Given the description of an element on the screen output the (x, y) to click on. 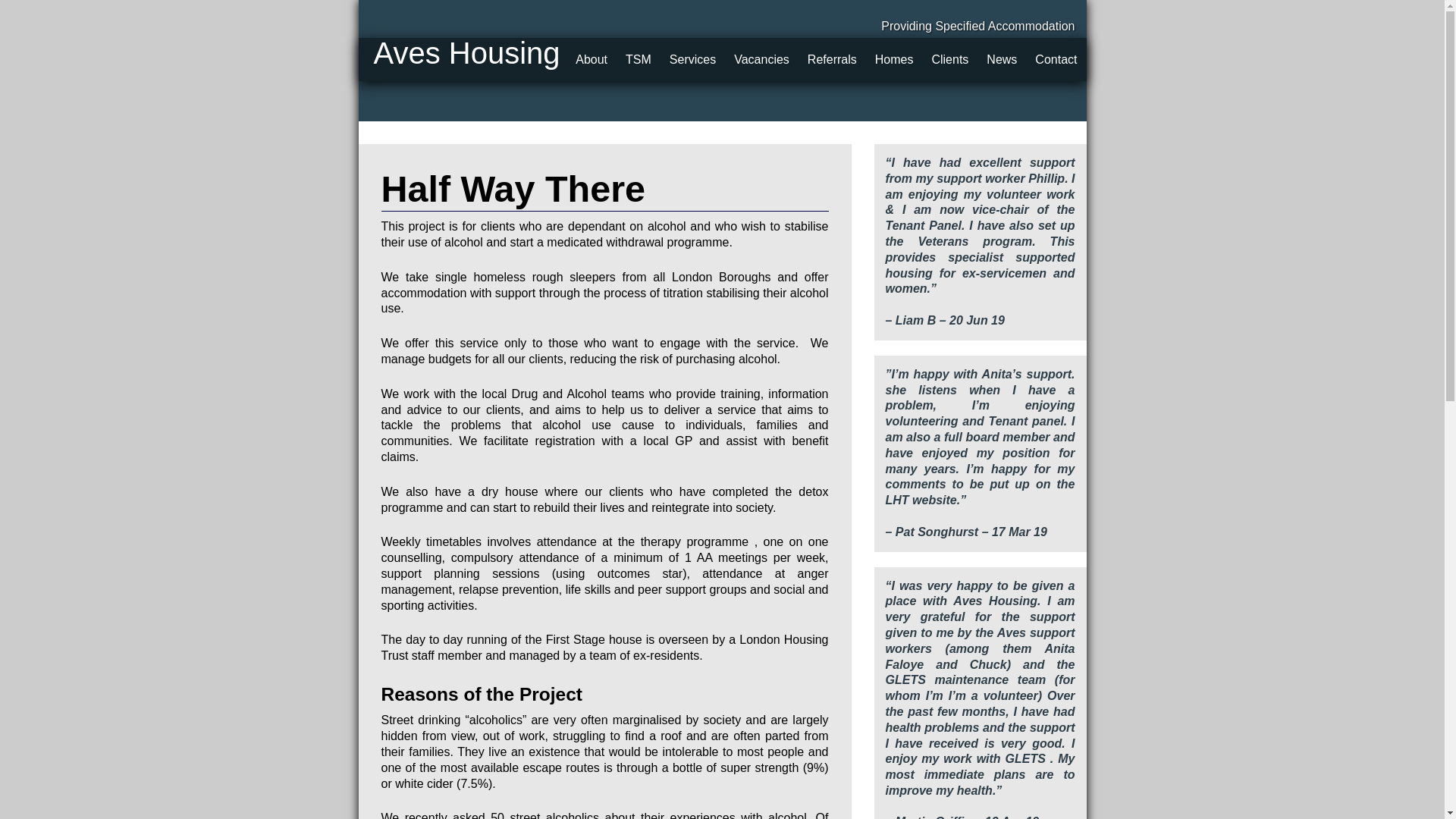
News (1001, 59)
Contact (1056, 59)
Services (693, 59)
Aves Housing (465, 52)
TSM (638, 59)
Clients (948, 59)
Referrals (831, 59)
Vacancies (761, 59)
About (590, 59)
Homes (894, 59)
